Given the description of an element on the screen output the (x, y) to click on. 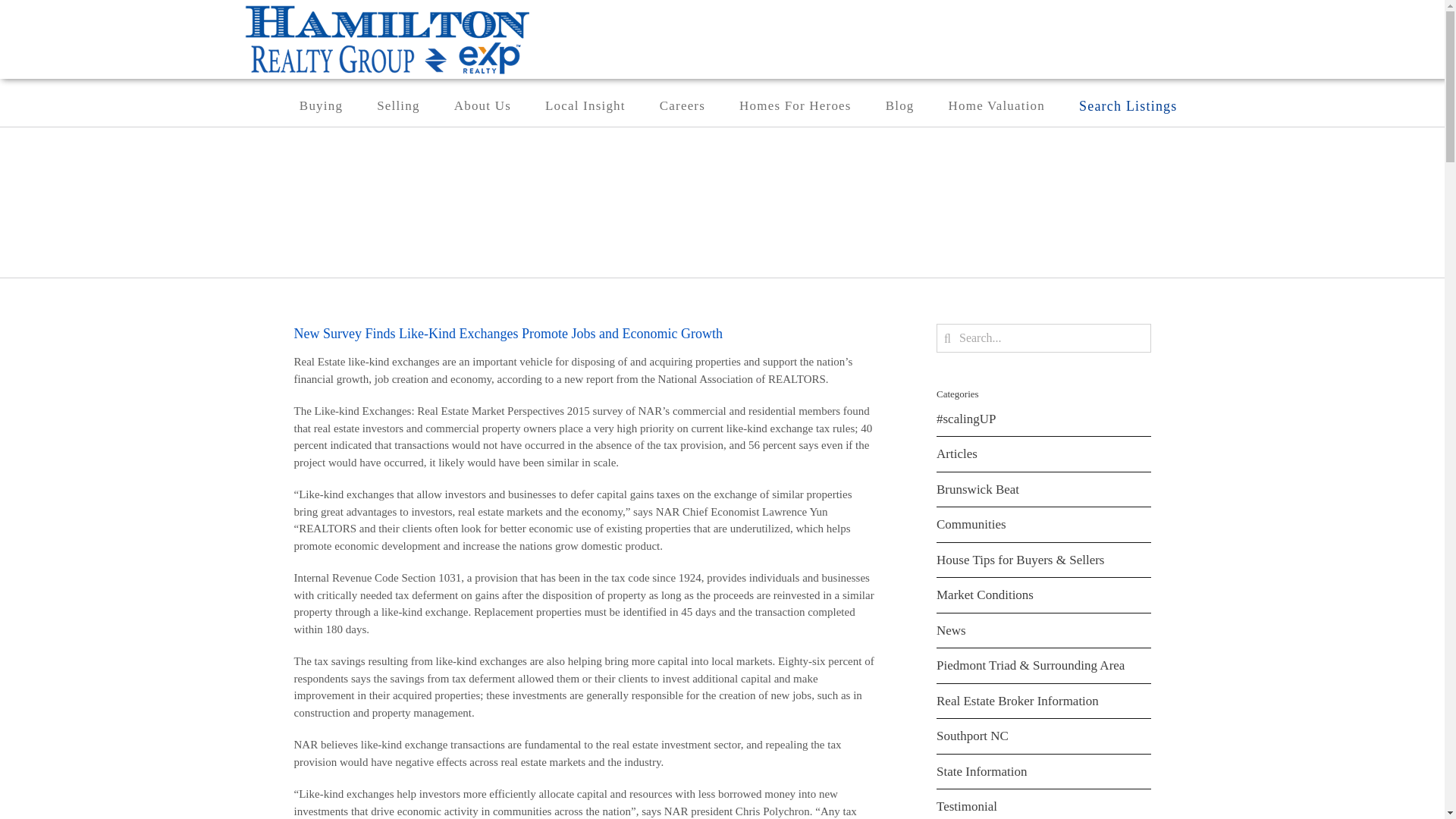
Local Insight (585, 105)
Home Valuation (997, 105)
Buying (320, 105)
Careers (681, 105)
About Us (482, 105)
Search Listings (1138, 105)
Homes For Heroes (795, 105)
Selling (398, 105)
